Given the description of an element on the screen output the (x, y) to click on. 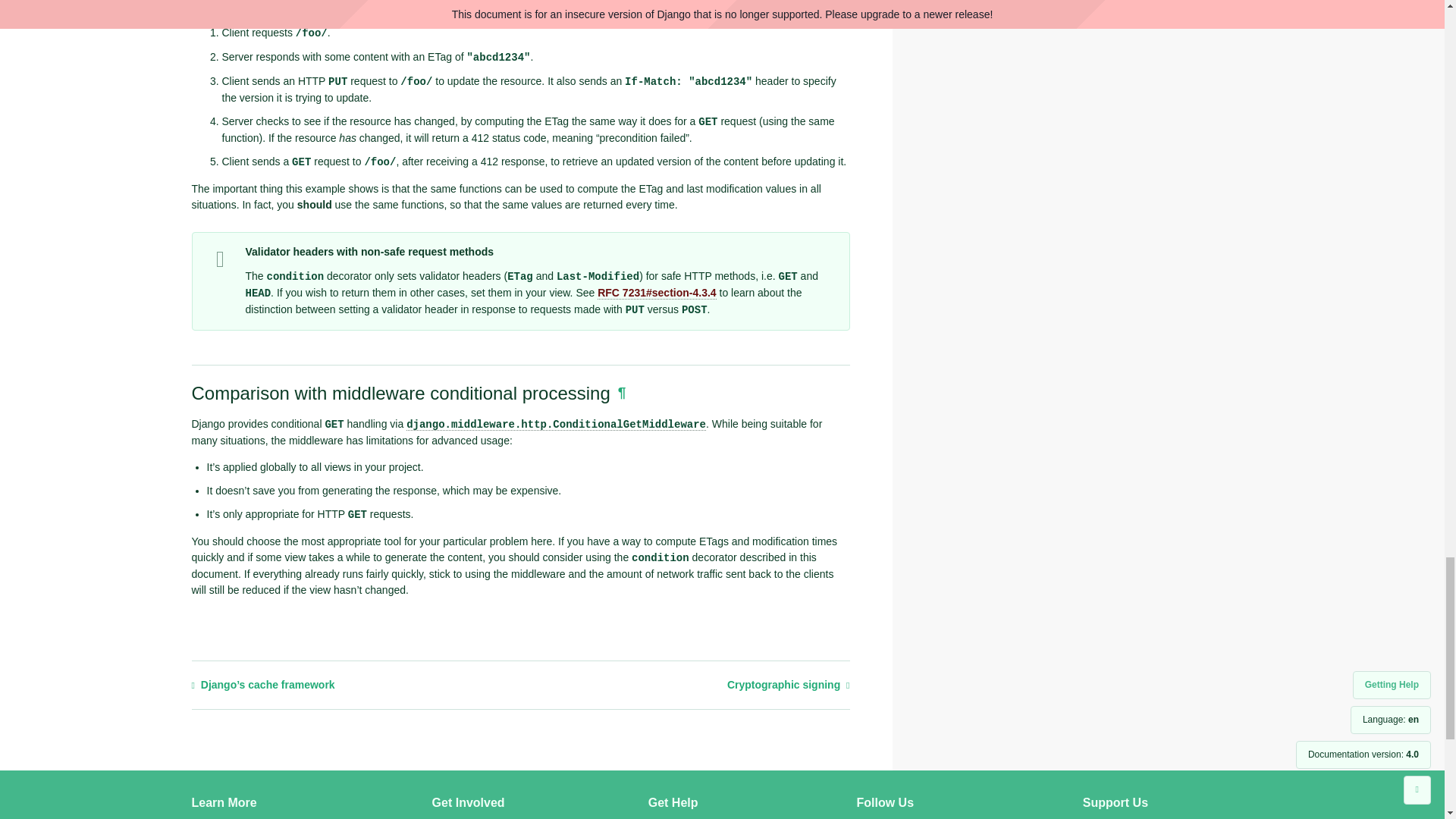
django.middleware.http.ConditionalGetMiddleware (556, 423)
Permalink to this headline (621, 392)
